Given the description of an element on the screen output the (x, y) to click on. 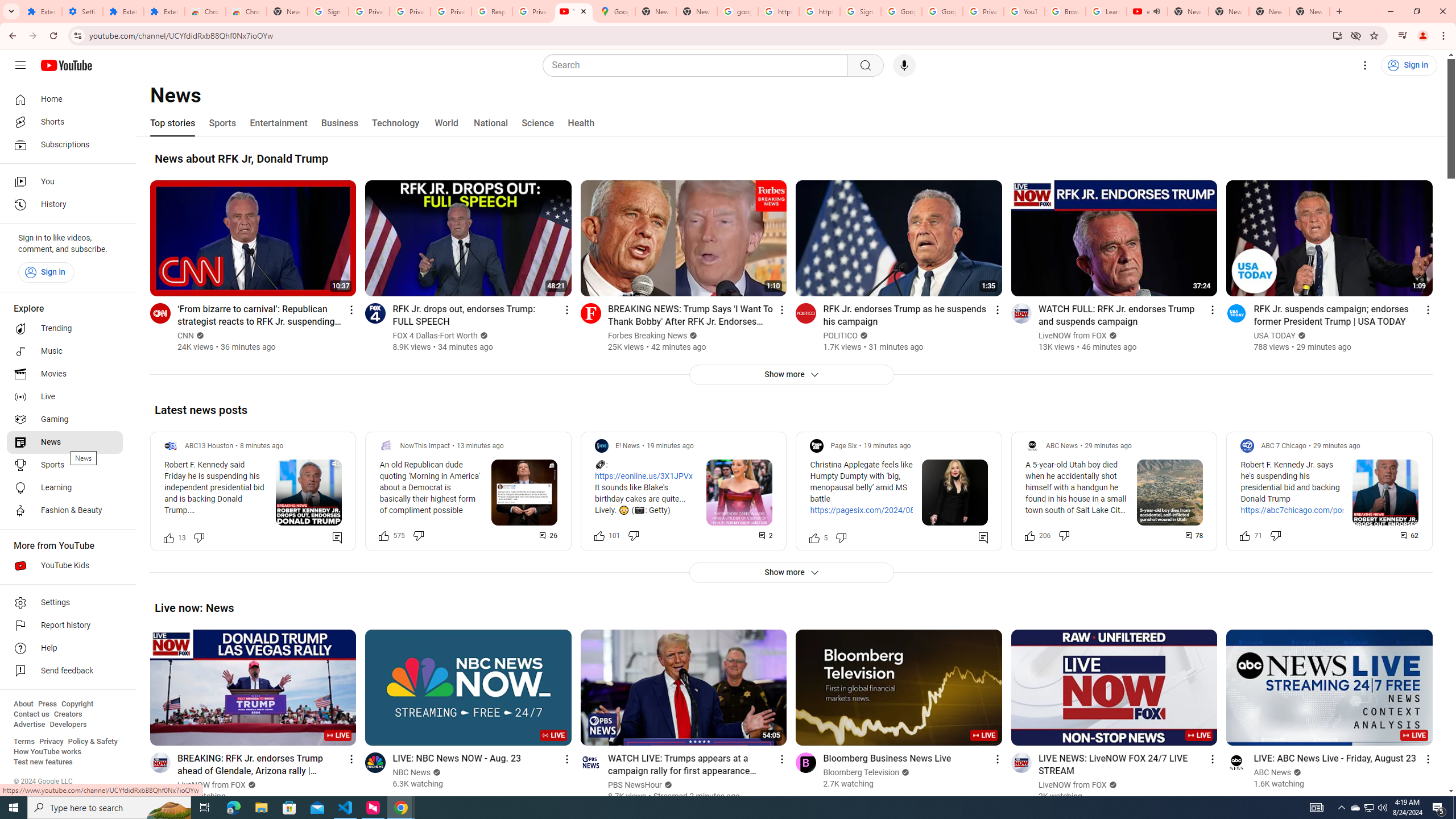
History (64, 204)
Shorts (64, 121)
Browse Chrome as a guest - Computer - Google Chrome Help (1064, 11)
LIVE: NBC News NOW - Aug. 23 by NBC News 128,619 views (457, 757)
Forbes Breaking News (647, 335)
E! News (626, 445)
Help (64, 648)
